Given the description of an element on the screen output the (x, y) to click on. 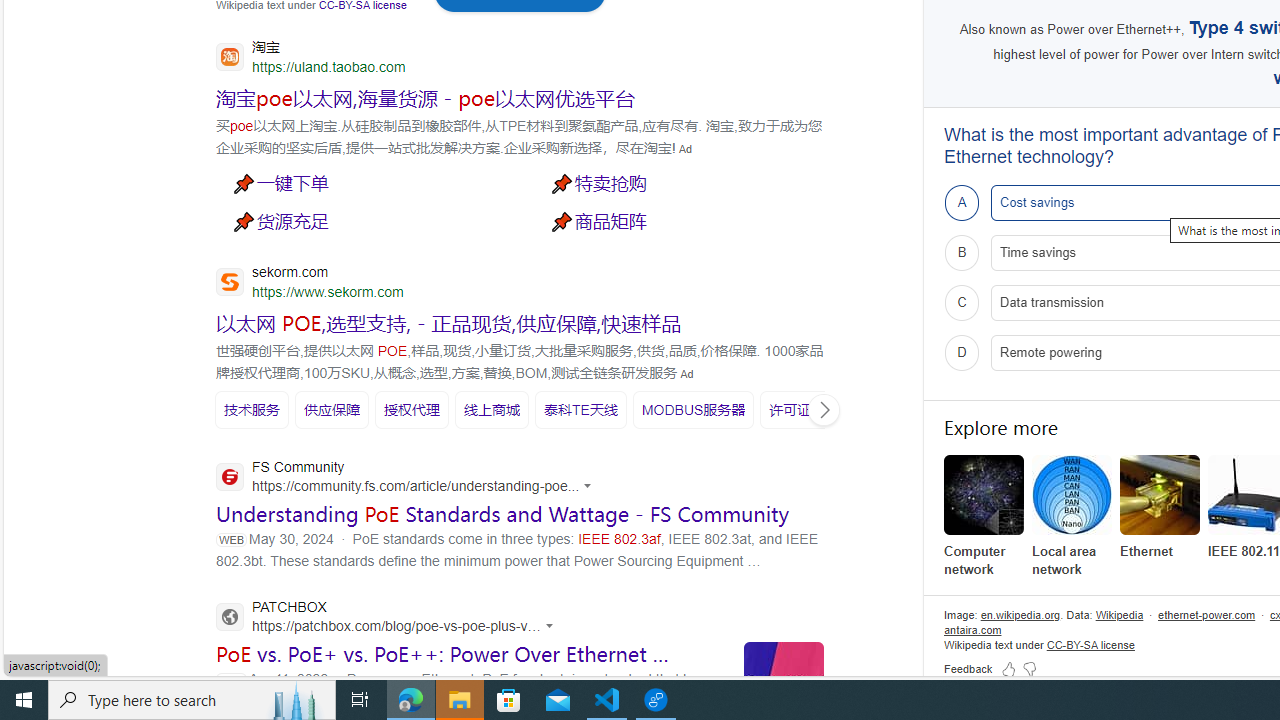
Computer network (984, 494)
SERP,5930 (581, 409)
Computer network (984, 516)
SERP,5929 (491, 409)
Explore more Local area network (1071, 516)
Data attribution ethernet-power.com (1206, 614)
SERP,5927 (331, 409)
PATCHBOX (390, 619)
SERP,5919 (365, 220)
SERP,5917 (365, 182)
Local area network (1071, 516)
SERP,5930 (580, 409)
Image attribution en.wikipedia.org (1020, 614)
